Given the description of an element on the screen output the (x, y) to click on. 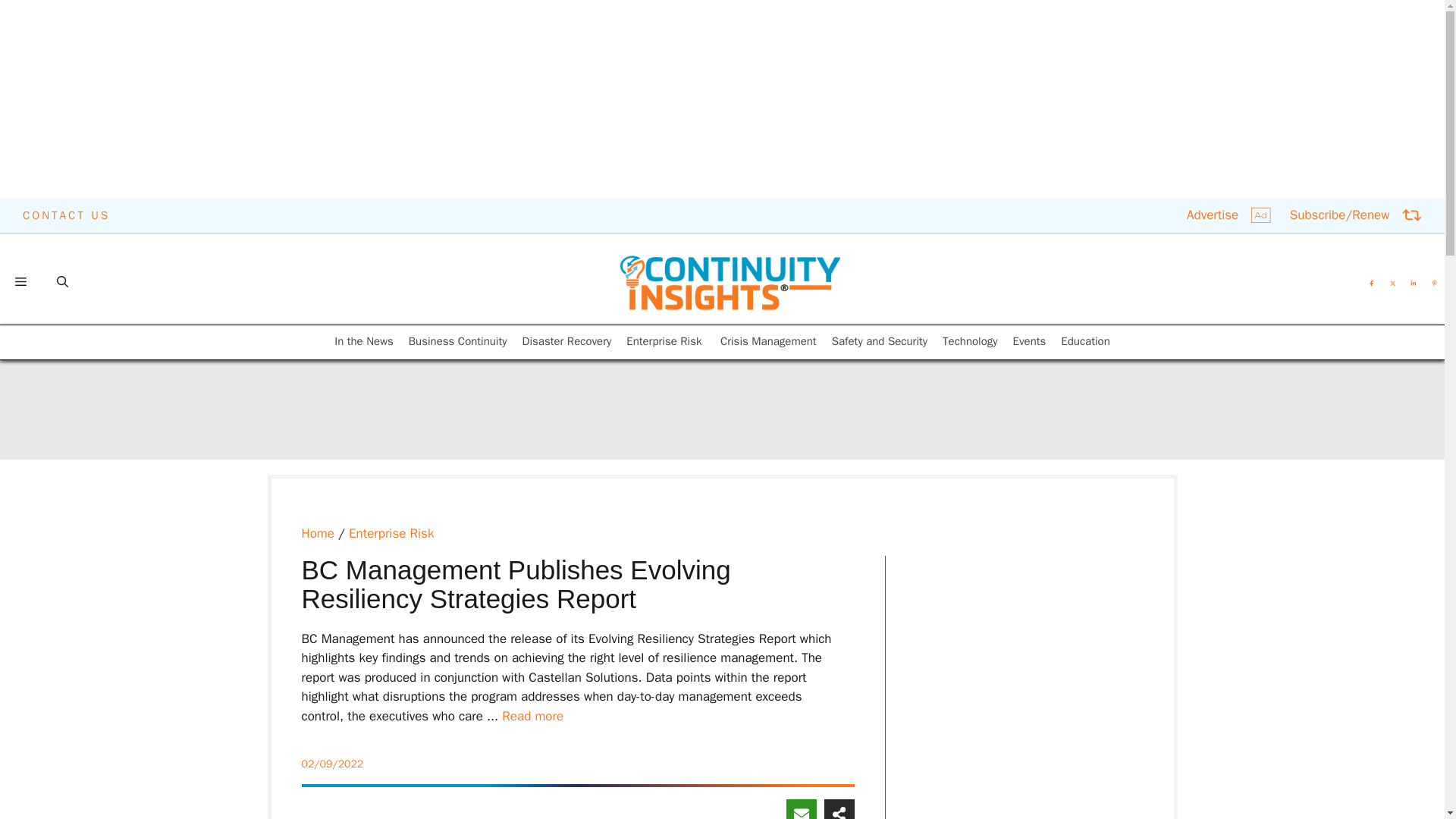
CONTACT US (66, 214)
Technology (969, 341)
3rd party ad content (1078, 269)
Advertise (1228, 215)
Business Continuity (457, 341)
Enterprise Risk  (665, 341)
Crisis Management (768, 341)
Continuity Insights (729, 281)
